Given the description of an element on the screen output the (x, y) to click on. 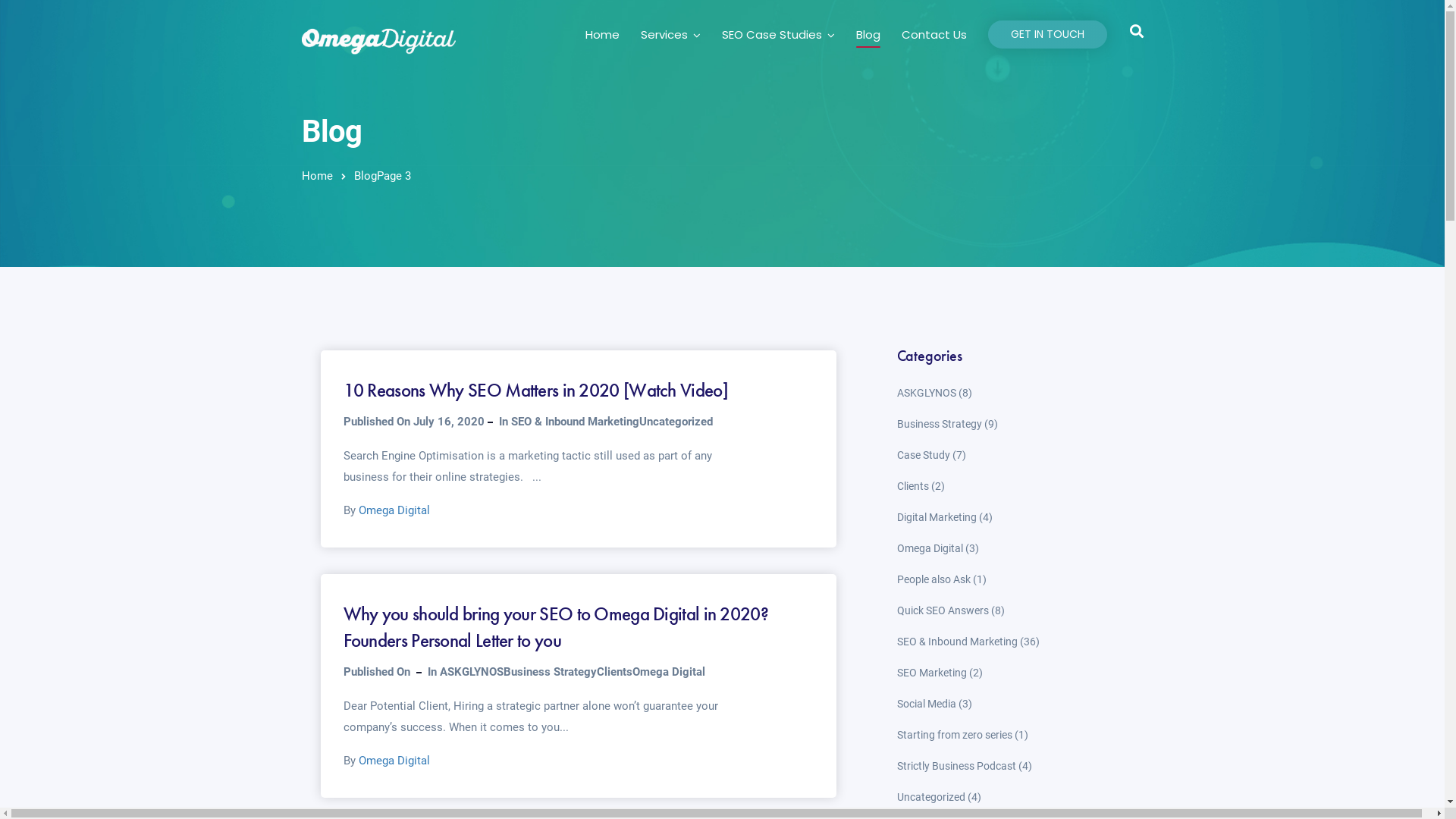
Uncategorized Element type: text (675, 421)
Social Media Element type: text (925, 703)
SEO & Inbound Marketing Element type: text (575, 421)
Digital Marketing Element type: text (935, 517)
Starting from zero series Element type: text (953, 734)
Case Study Element type: text (922, 454)
Quick SEO Answers Element type: text (942, 610)
Home Element type: text (316, 175)
SEO Marketing Element type: text (931, 672)
SEO & Inbound Marketing Element type: text (956, 641)
Omega Digital Element type: text (668, 671)
Omega Digital Element type: text (929, 548)
ASKGLYNOS Element type: text (471, 671)
Clients Element type: text (613, 671)
Uncategorized Element type: text (930, 796)
Business Strategy Element type: text (938, 423)
GET IN TOUCH Element type: text (1046, 34)
Omega Digital Element type: text (393, 760)
SEO Case Studies Element type: text (777, 36)
Clients Element type: text (912, 486)
Business Strategy Element type: text (549, 671)
ASKGLYNOS Element type: text (925, 392)
Strictly Business Podcast Element type: text (955, 765)
Contact Us Element type: text (933, 36)
Omega Digital Element type: text (393, 510)
People also Ask Element type: text (932, 579)
10 Reasons Why SEO Matters in 2020 [Watch Video] Element type: text (534, 389)
Blog Element type: text (867, 36)
Services Element type: text (669, 36)
Home Element type: text (602, 36)
